Given the description of an element on the screen output the (x, y) to click on. 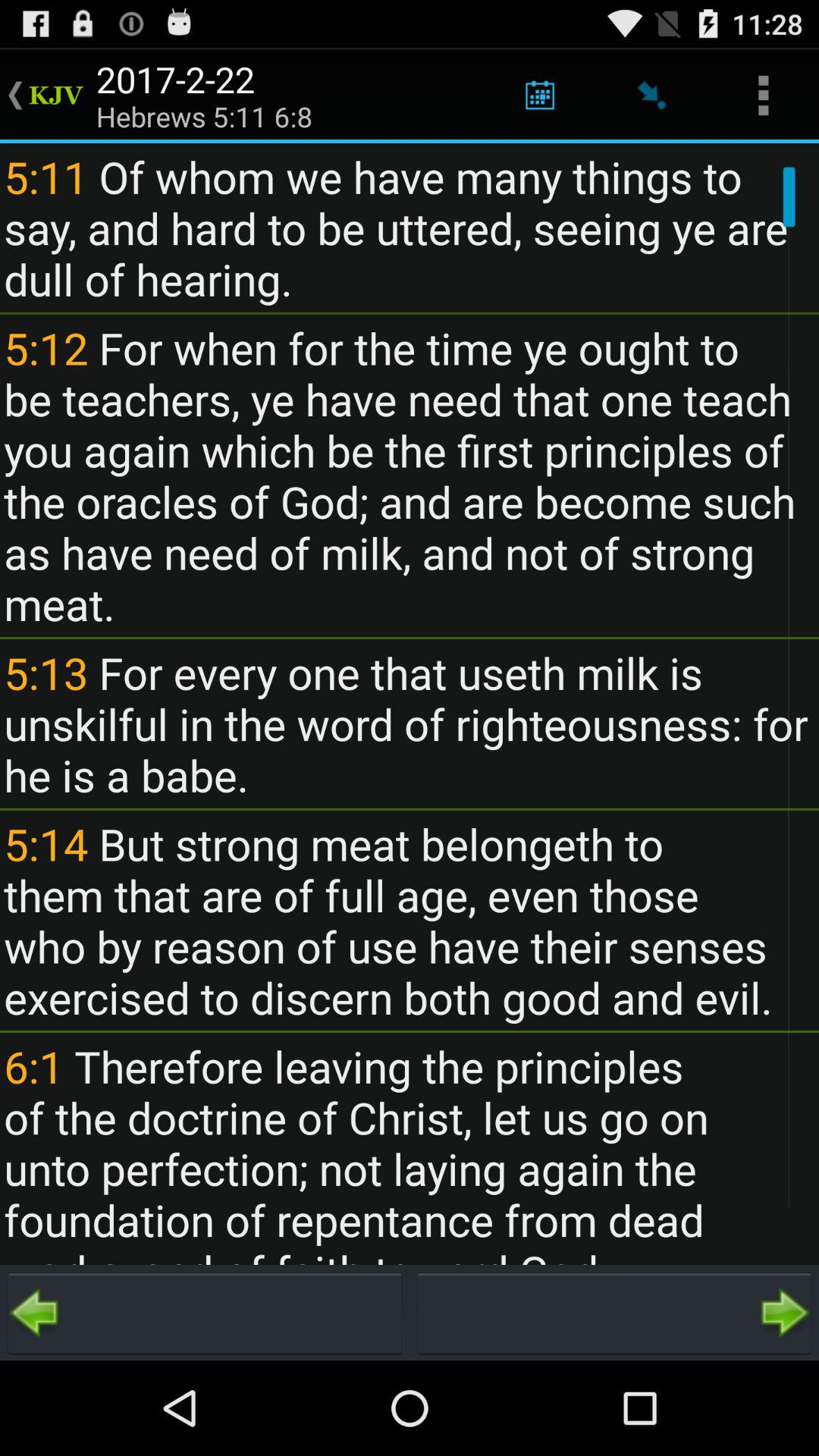
go back (204, 1312)
